Given the description of an element on the screen output the (x, y) to click on. 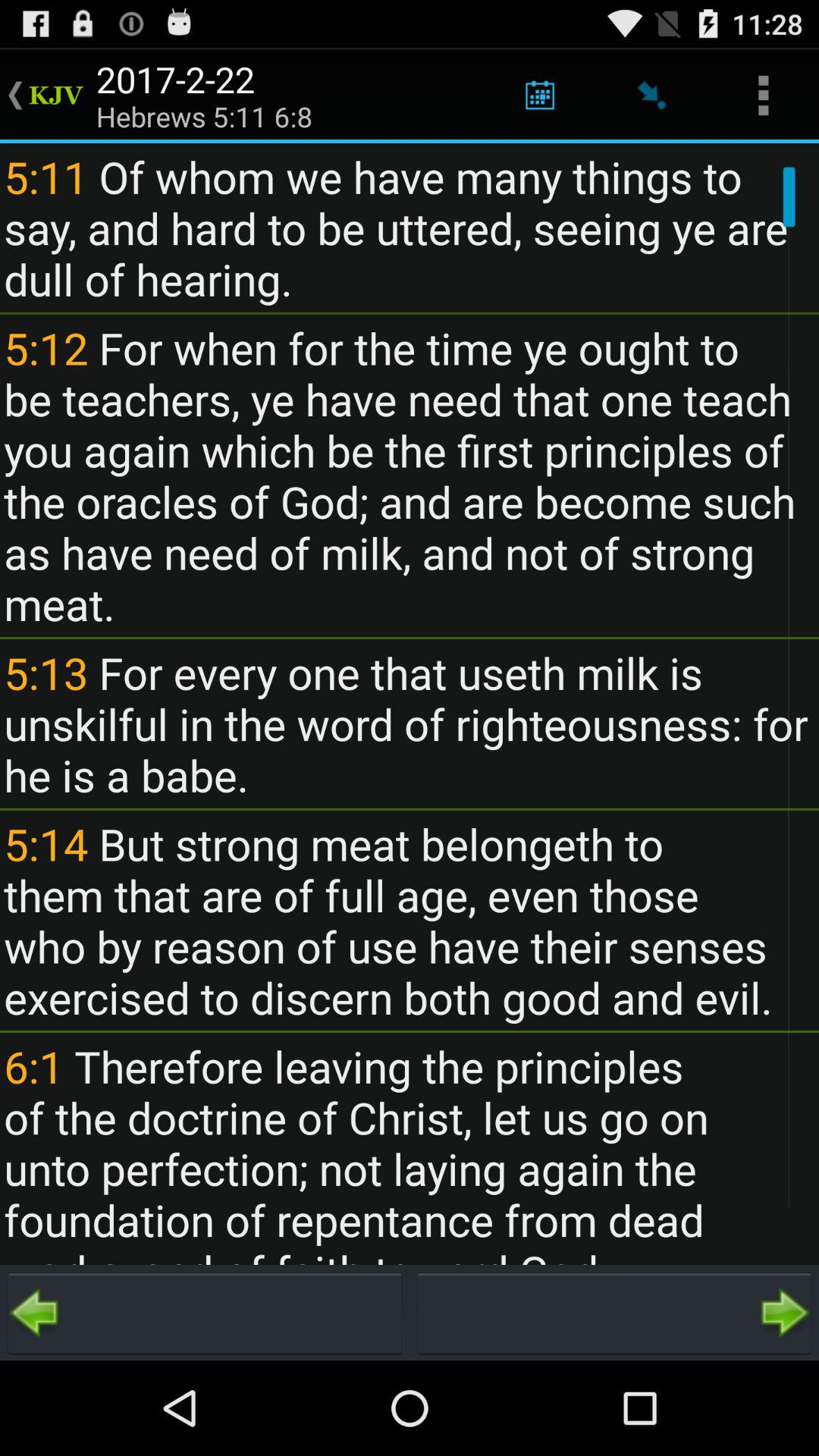
go back (204, 1312)
